Given the description of an element on the screen output the (x, y) to click on. 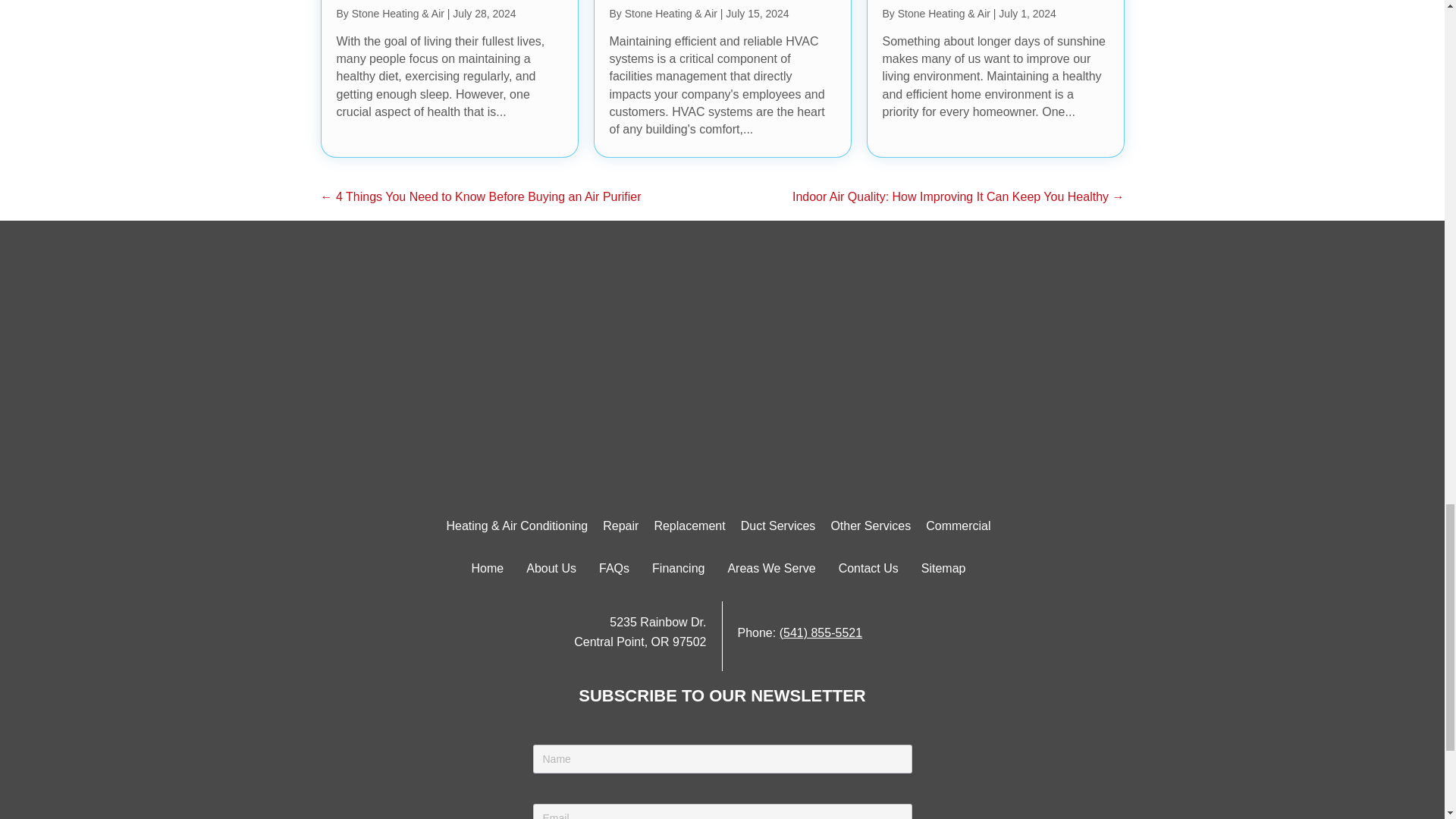
Environmental Factors Impacting HVAC Maintenance (722, 79)
How Clean Indoor Air Contributes to Better Health (449, 79)
Spring Cleaning: When Should I Clean My Air Ducts? (995, 79)
